Given the description of an element on the screen output the (x, y) to click on. 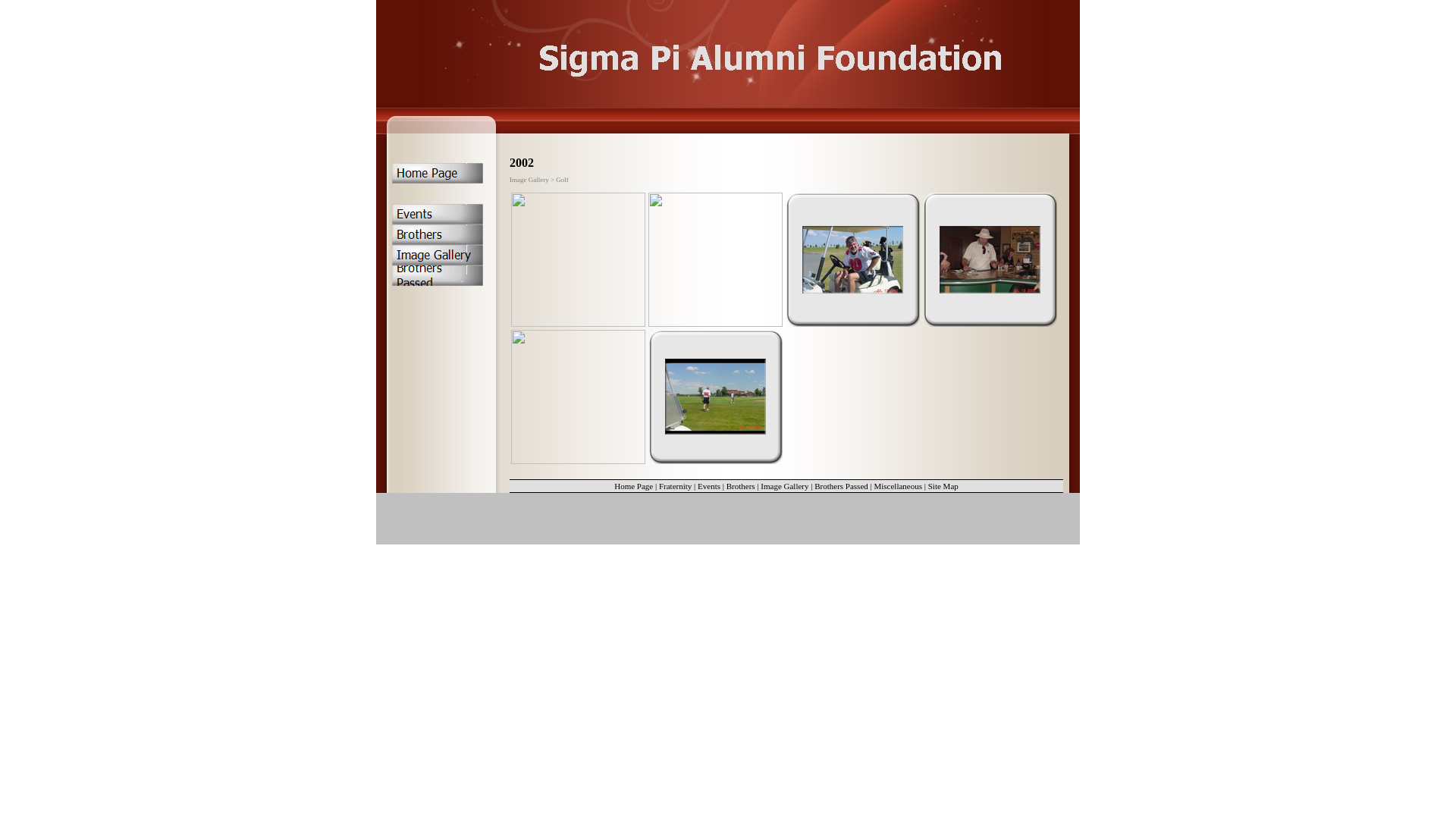
Brothers Passed Element type: text (841, 485)
Brothers Element type: text (740, 485)
Home Page Element type: text (633, 485)
Site Map Element type: text (943, 485)
Miscellaneous Element type: text (897, 485)
Fraternity Element type: text (674, 485)
Image Gallery Element type: text (784, 485)
Events Element type: text (708, 485)
